Given the description of an element on the screen output the (x, y) to click on. 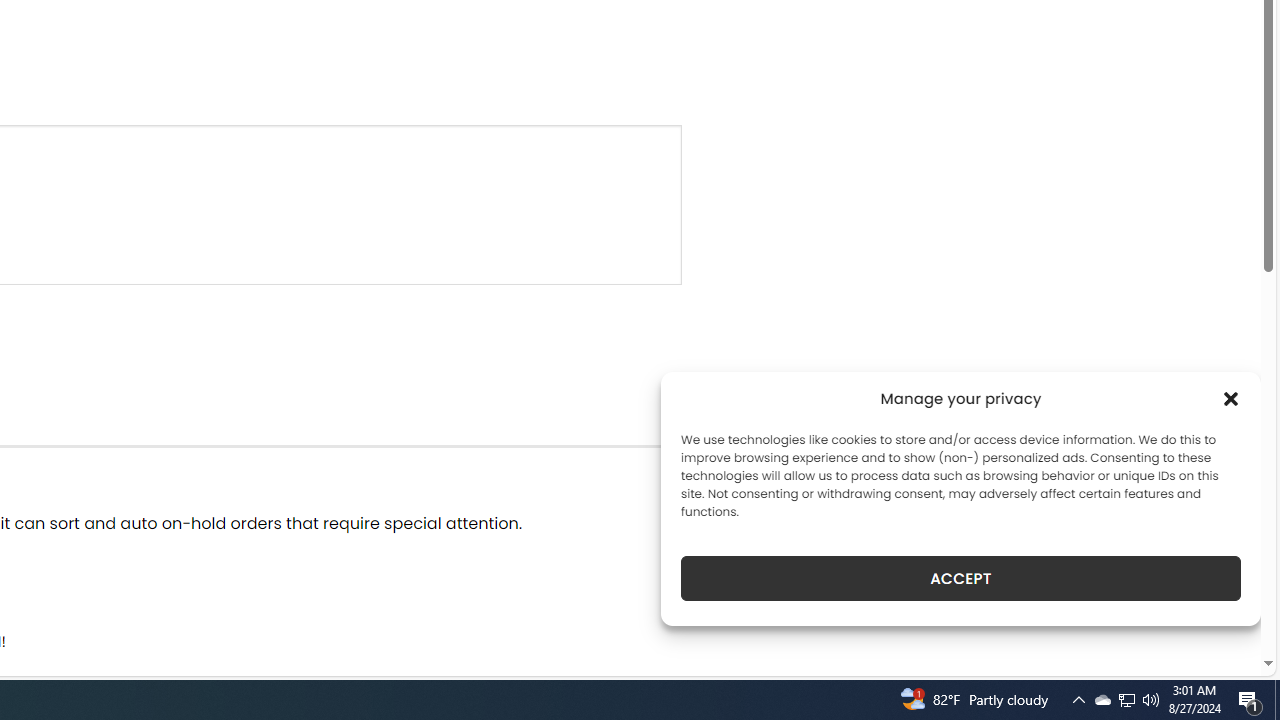
Class: cmplz-close (1231, 398)
ACCEPT (960, 578)
